Given the description of an element on the screen output the (x, y) to click on. 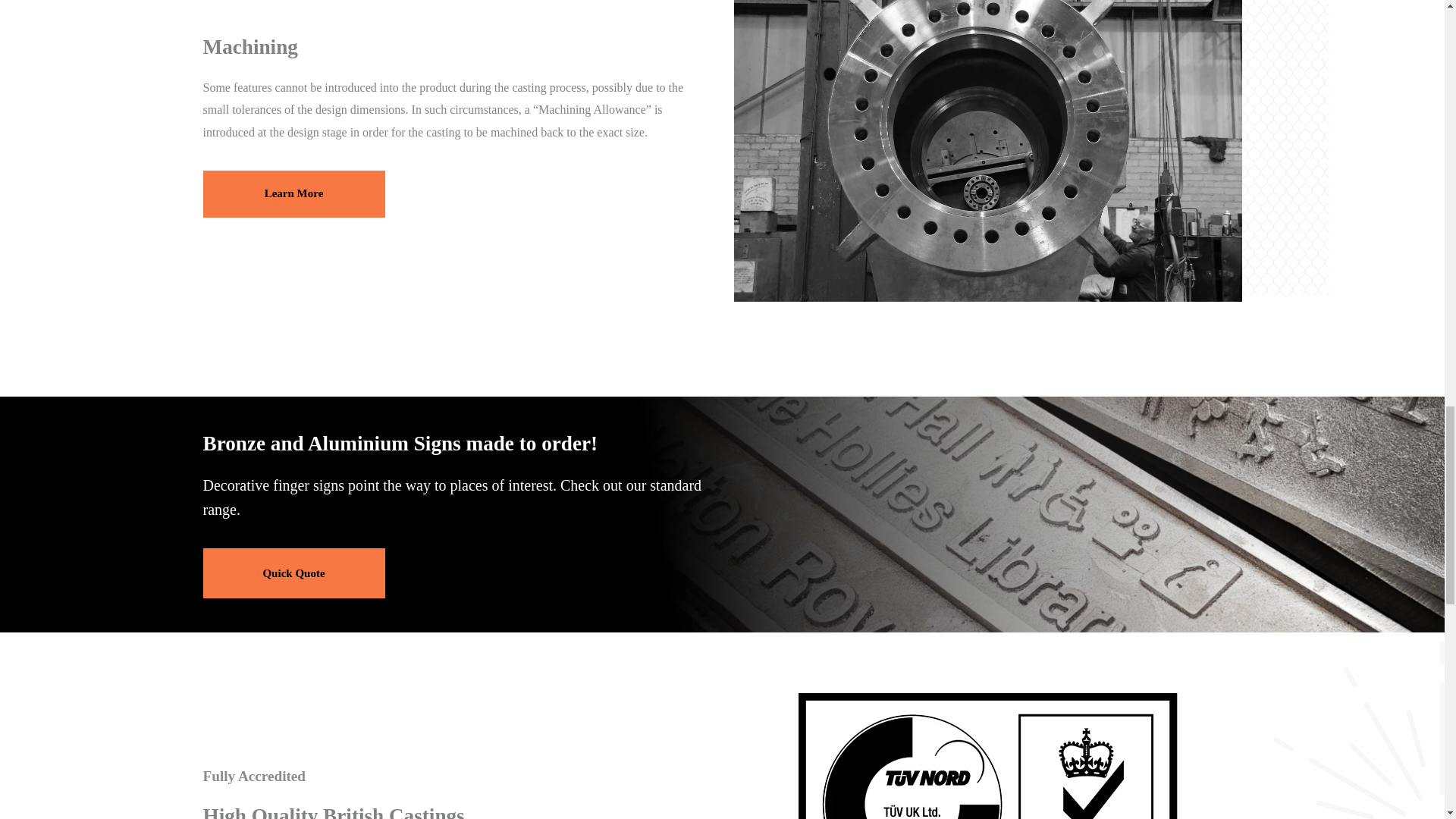
Learn More (294, 193)
Quick Quote (294, 572)
High Quality British Castings. (986, 755)
